Given the description of an element on the screen output the (x, y) to click on. 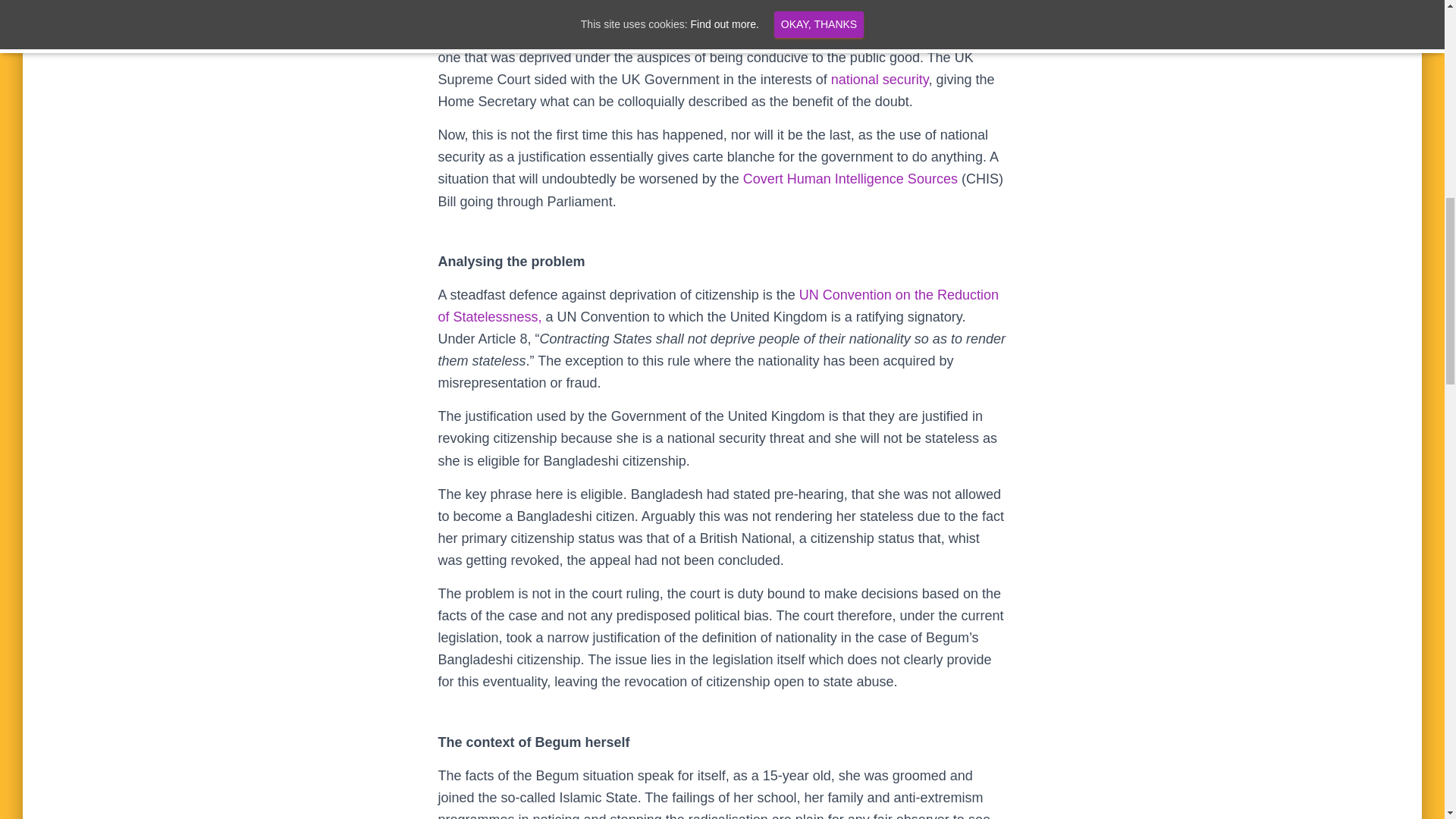
UN Convention on the Reduction of Statelessness, (718, 305)
Covert Human Intelligence Sources (850, 178)
national security (879, 79)
